Given the description of an element on the screen output the (x, y) to click on. 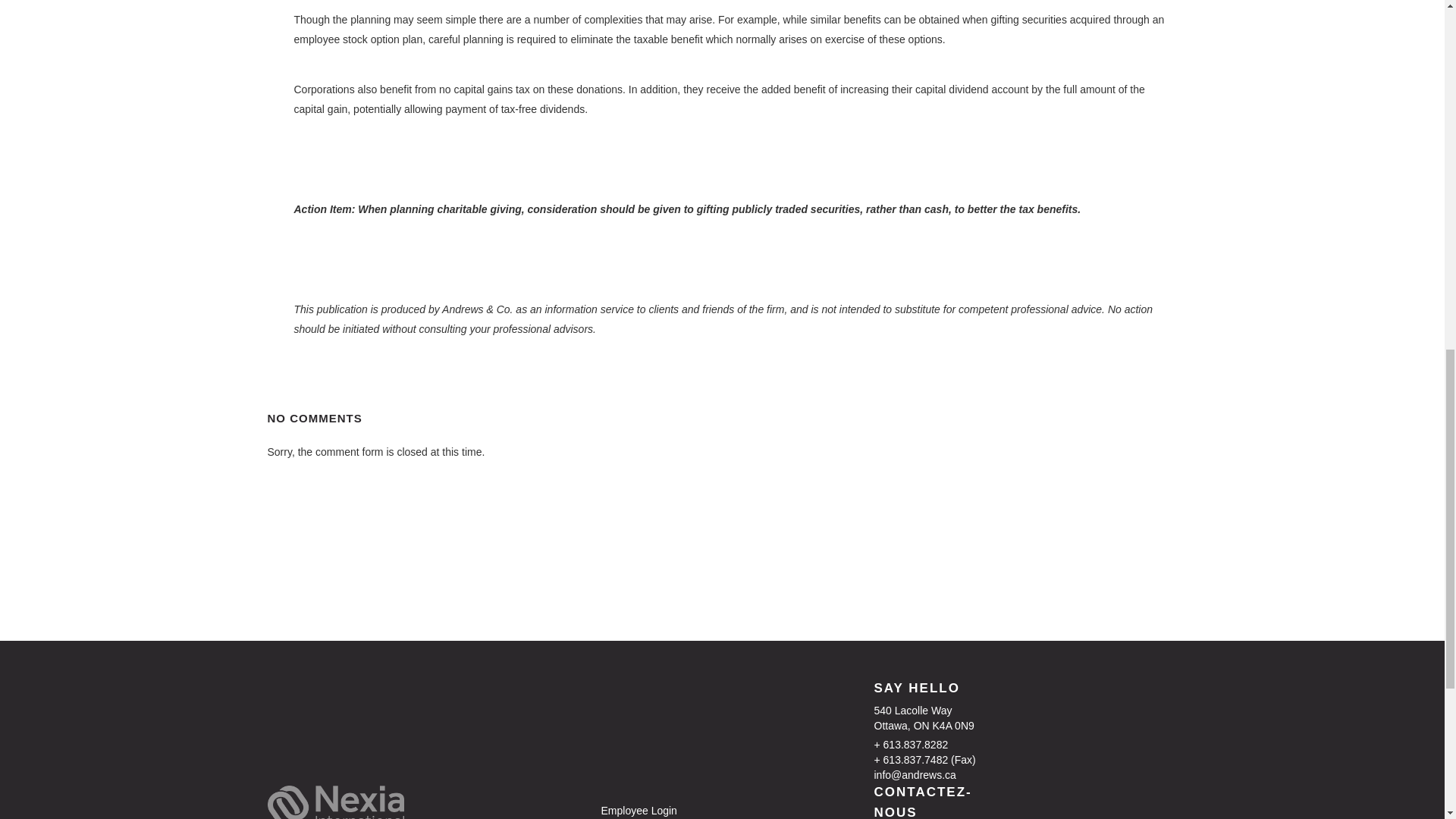
Employee Login (673, 810)
